Given the description of an element on the screen output the (x, y) to click on. 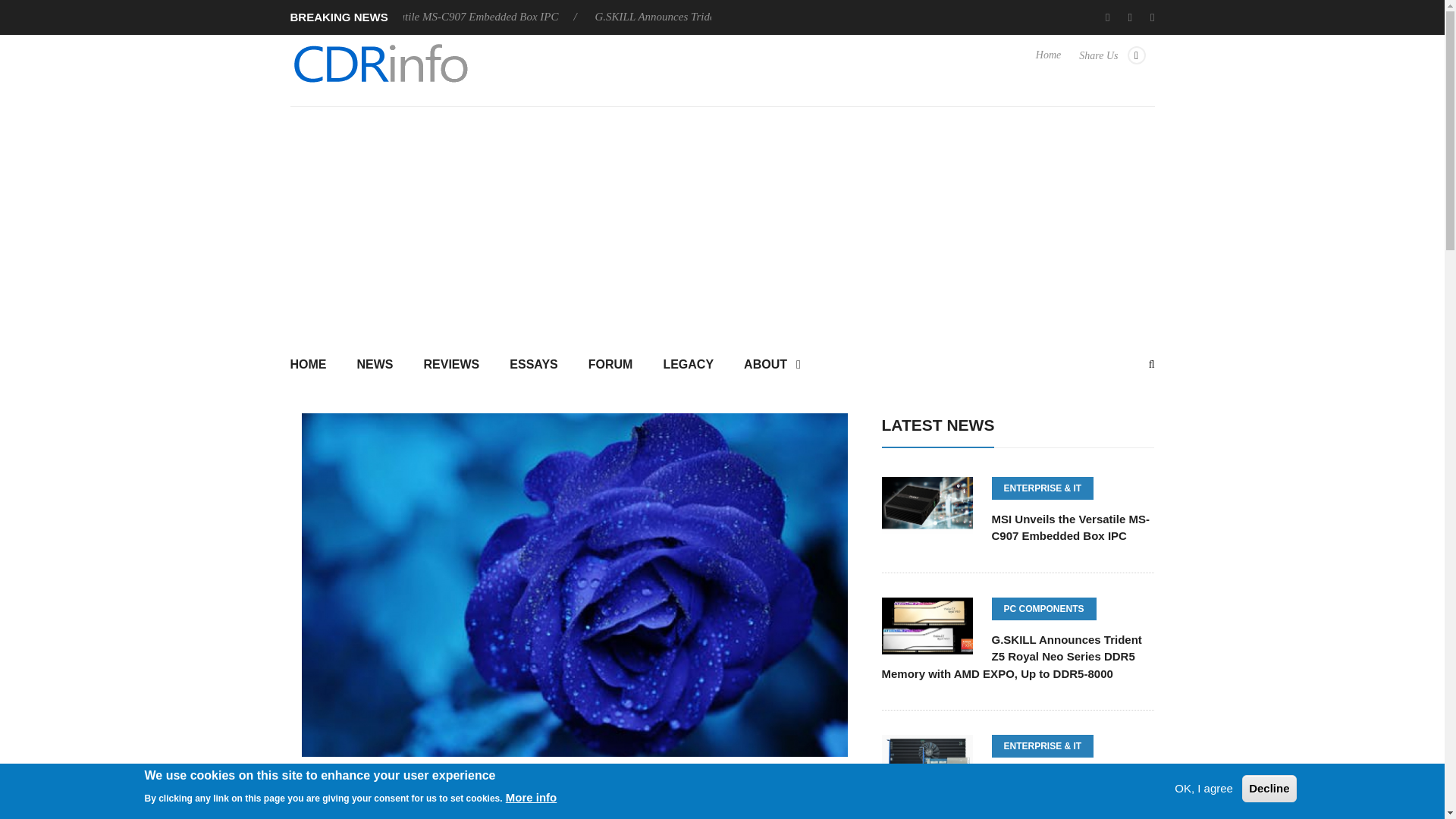
MSI Unveils the Versatile MS-C907 Embedded Box IPC (439, 16)
Search (722, 499)
Home (1048, 62)
HOME (314, 366)
NEWS (373, 366)
REVIEWS (451, 366)
ESSAYS (533, 366)
ABOUT (772, 366)
Share Us (1112, 62)
LEGACY (688, 366)
FORUM (610, 366)
